Given the description of an element on the screen output the (x, y) to click on. 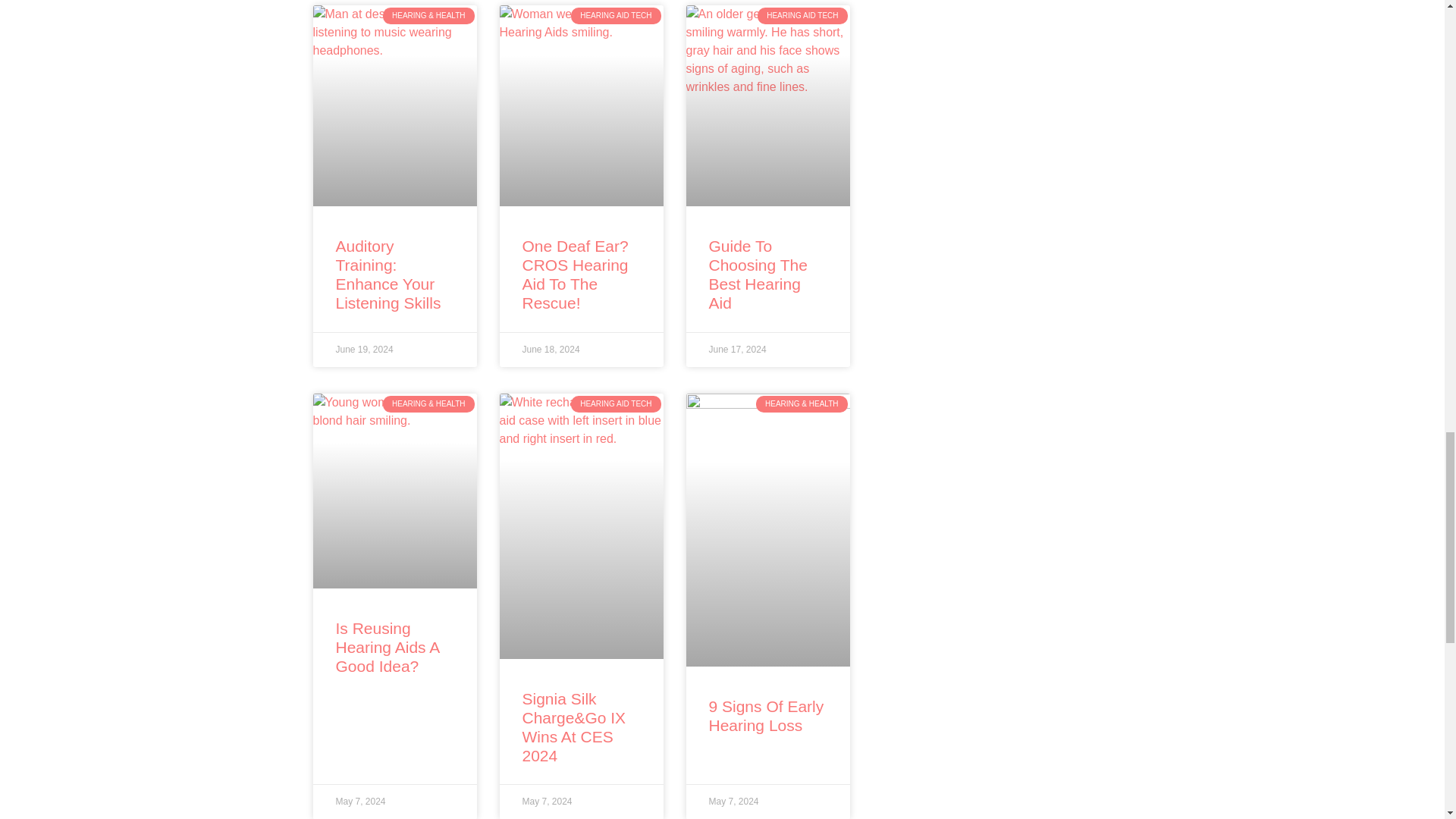
Auditory Training: Enhance Your Listening Skills (387, 274)
One Deaf Ear? CROS Hearing Aid To The Rescue! (574, 274)
Guide To Choosing The Best Hearing Aid (756, 274)
Is Reusing Hearing Aids A Good Idea? (386, 646)
9 Signs Of Early Hearing Loss (765, 715)
